Given the description of an element on the screen output the (x, y) to click on. 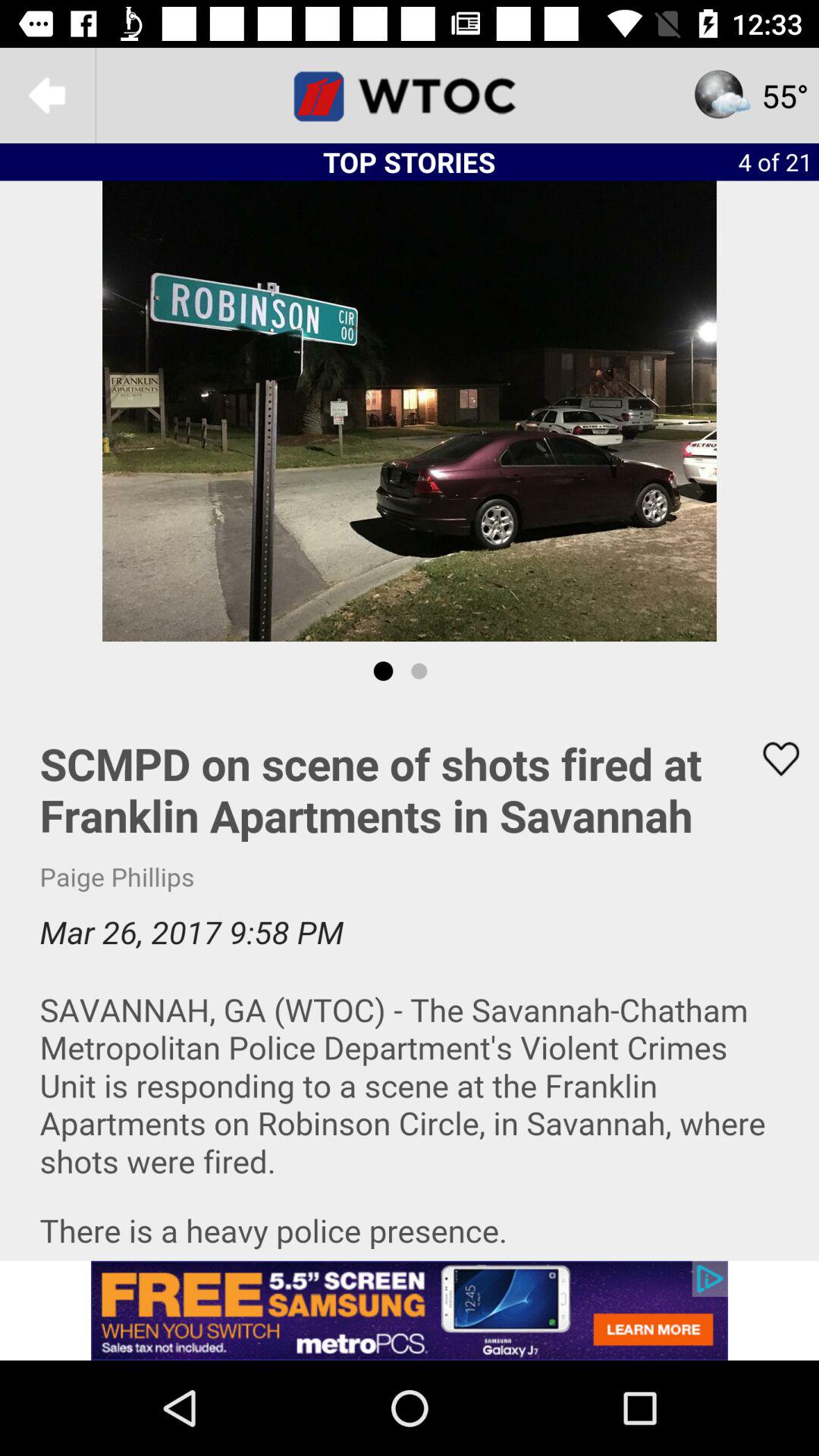
favorite article (771, 758)
